Given the description of an element on the screen output the (x, y) to click on. 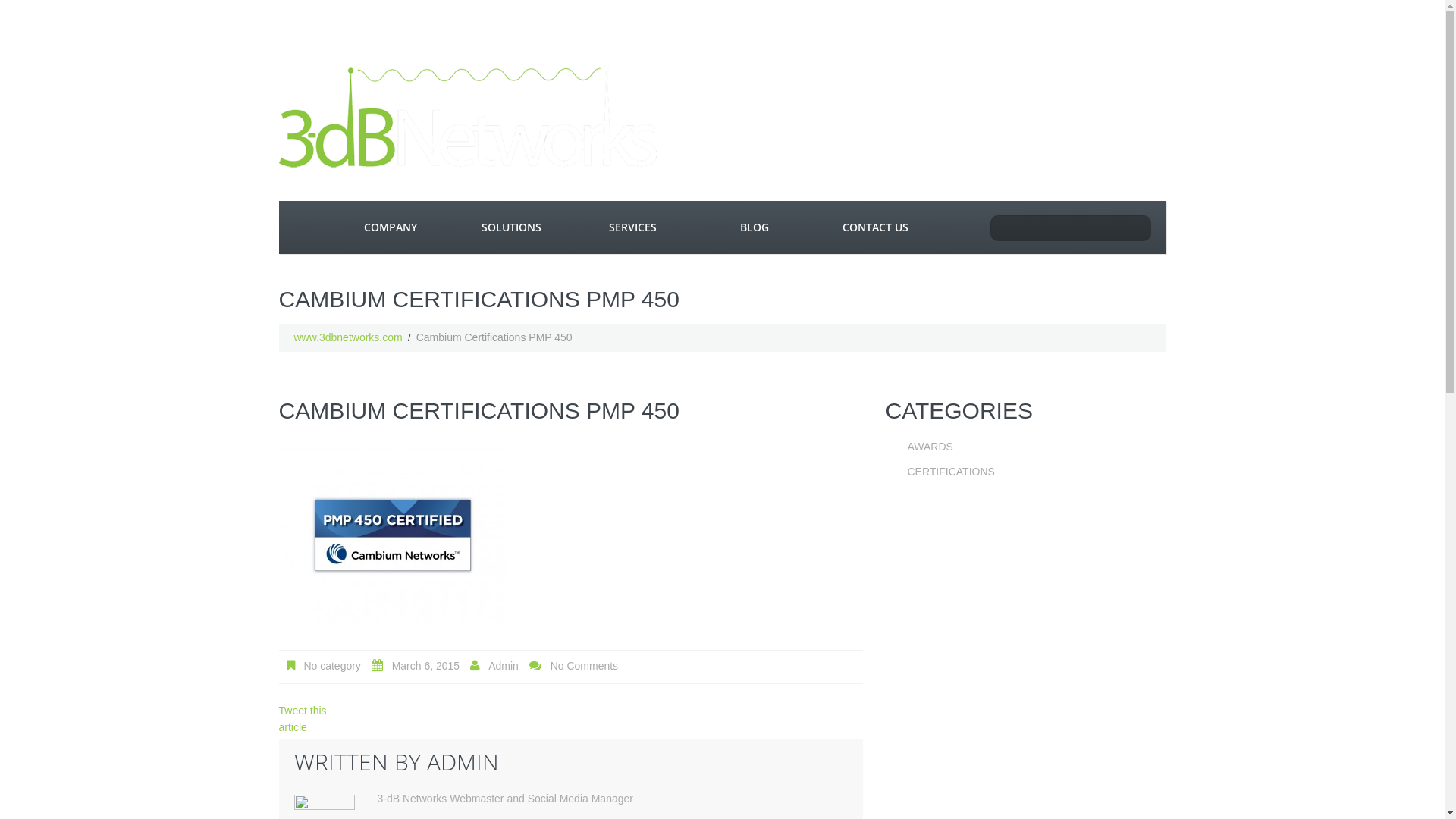
SERVICES Element type: text (633, 227)
Tweet this article Element type: text (302, 718)
CERTIFICATIONS Element type: text (950, 471)
CONTACT US Element type: text (875, 227)
ADMIN Element type: text (462, 761)
Admin Element type: text (503, 665)
www.3dbnetworks.com Element type: text (348, 337)
WWW.3DBNETWORKS.COM Element type: text (304, 227)
No Comments Element type: text (584, 665)
COMPANY Element type: text (390, 227)
Communication & Networking Company Element type: hover (468, 116)
BLOG Element type: text (754, 227)
AWARDS Element type: text (929, 446)
SOLUTIONS Element type: text (511, 227)
